Given the description of an element on the screen output the (x, y) to click on. 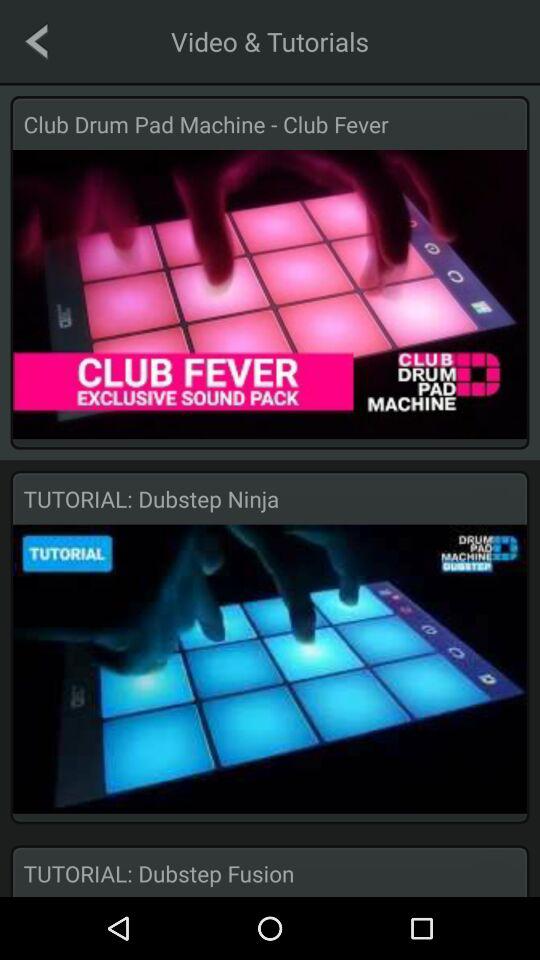
turn off the item at the top left corner (36, 41)
